Given the description of an element on the screen output the (x, y) to click on. 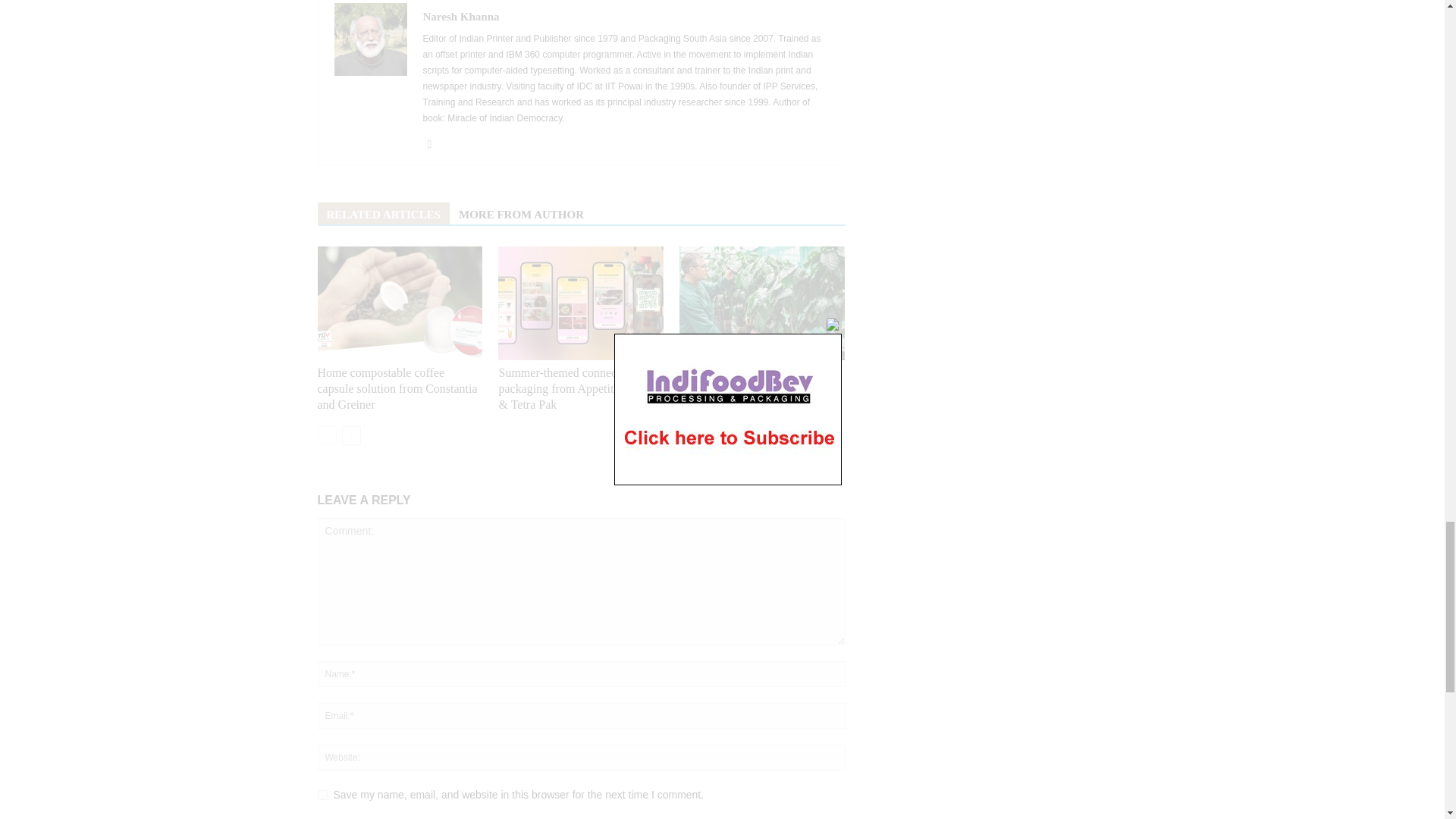
yes (321, 795)
